Given the description of an element on the screen output the (x, y) to click on. 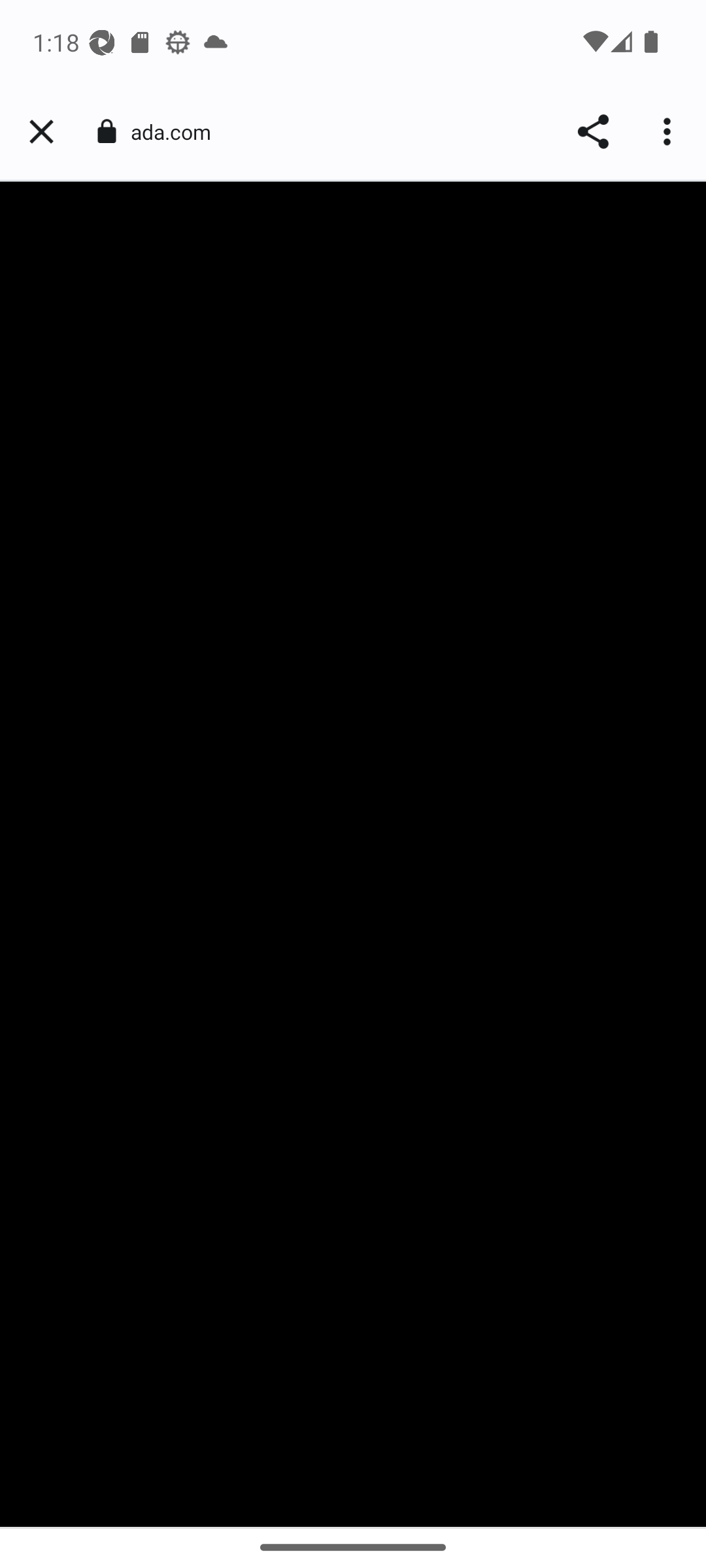
Close tab (41, 131)
Share (592, 131)
More options (669, 131)
Connection is secure (106, 131)
ada.com (177, 131)
